Given the description of an element on the screen output the (x, y) to click on. 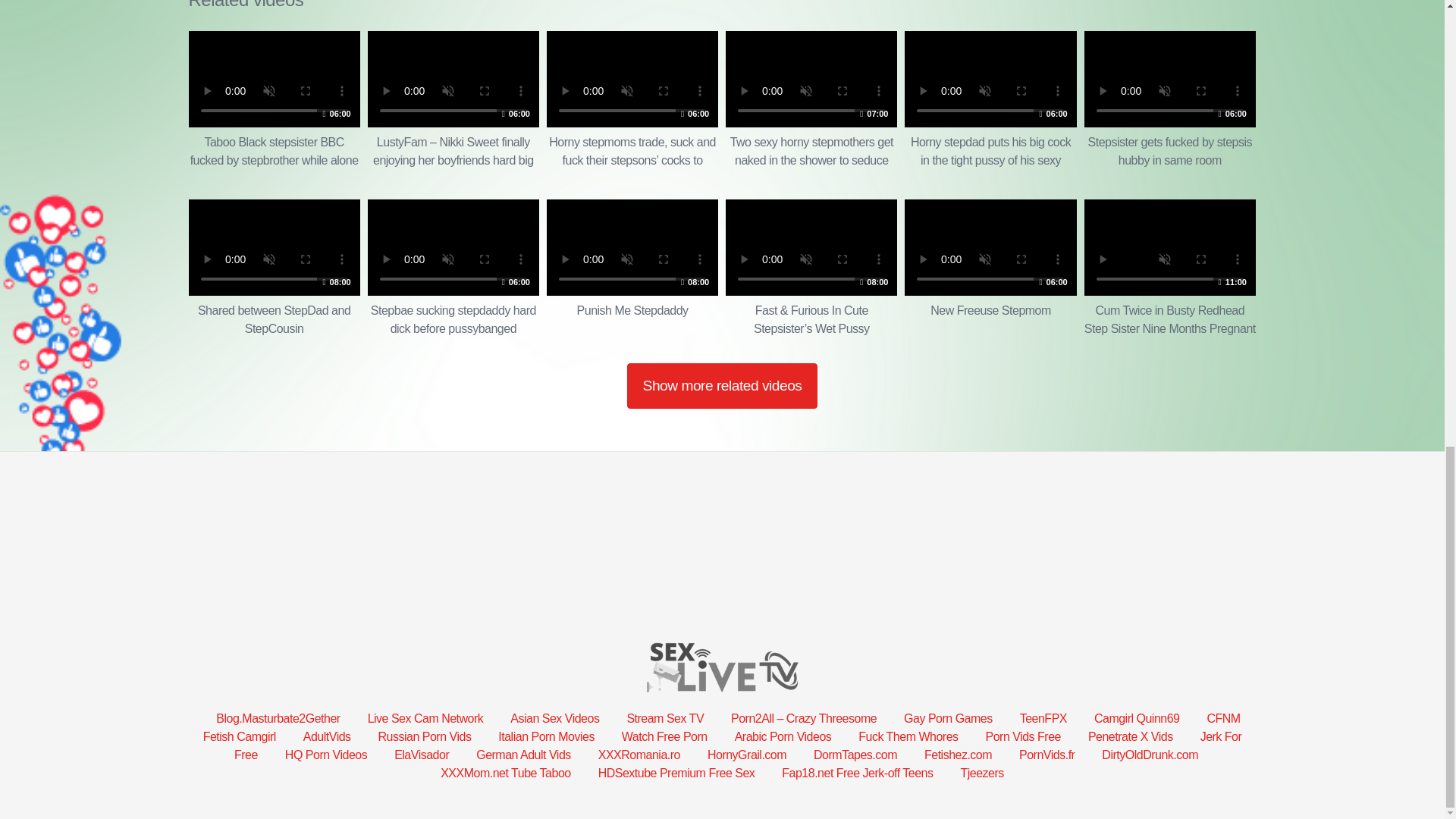
Taboo Black stepsister BBC fucked by stepbrother while alone (989, 268)
TeenFPX (273, 100)
Stepsister gets fucked by stepsis hubby in same room (1043, 717)
Blog.Masturbate2Gether (1169, 100)
Gay Porn Games (277, 717)
Asian Sex Videos (948, 717)
Stepbae sucking stepdaddy hard dick before pussybanged (554, 717)
Stream Sex TV (453, 268)
